Given the description of an element on the screen output the (x, y) to click on. 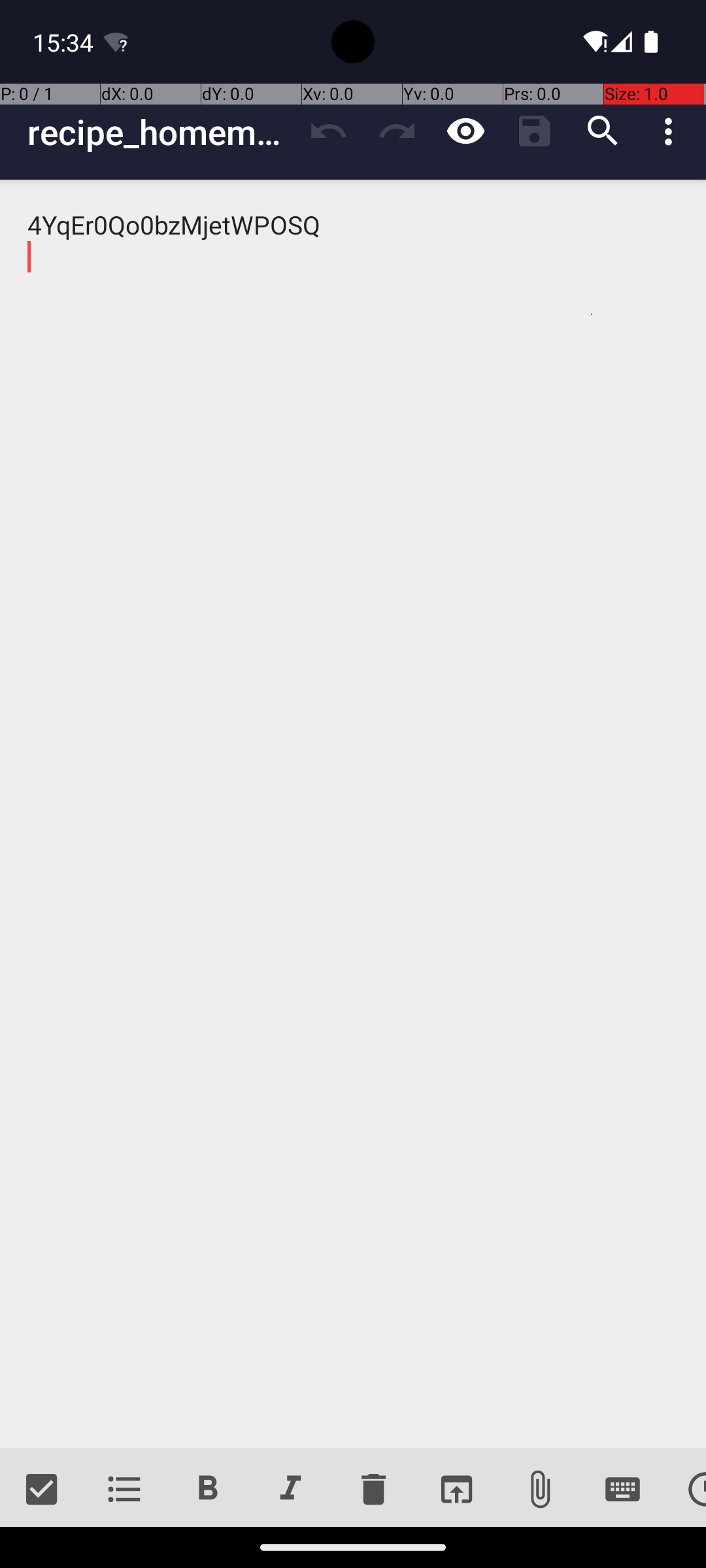
recipe_homemade_pizza_2023_10_06 Element type: android.widget.TextView (160, 131)
4YqEr0Qo0bzMjetWPOSQ
 Element type: android.widget.EditText (353, 813)
